Given the description of an element on the screen output the (x, y) to click on. 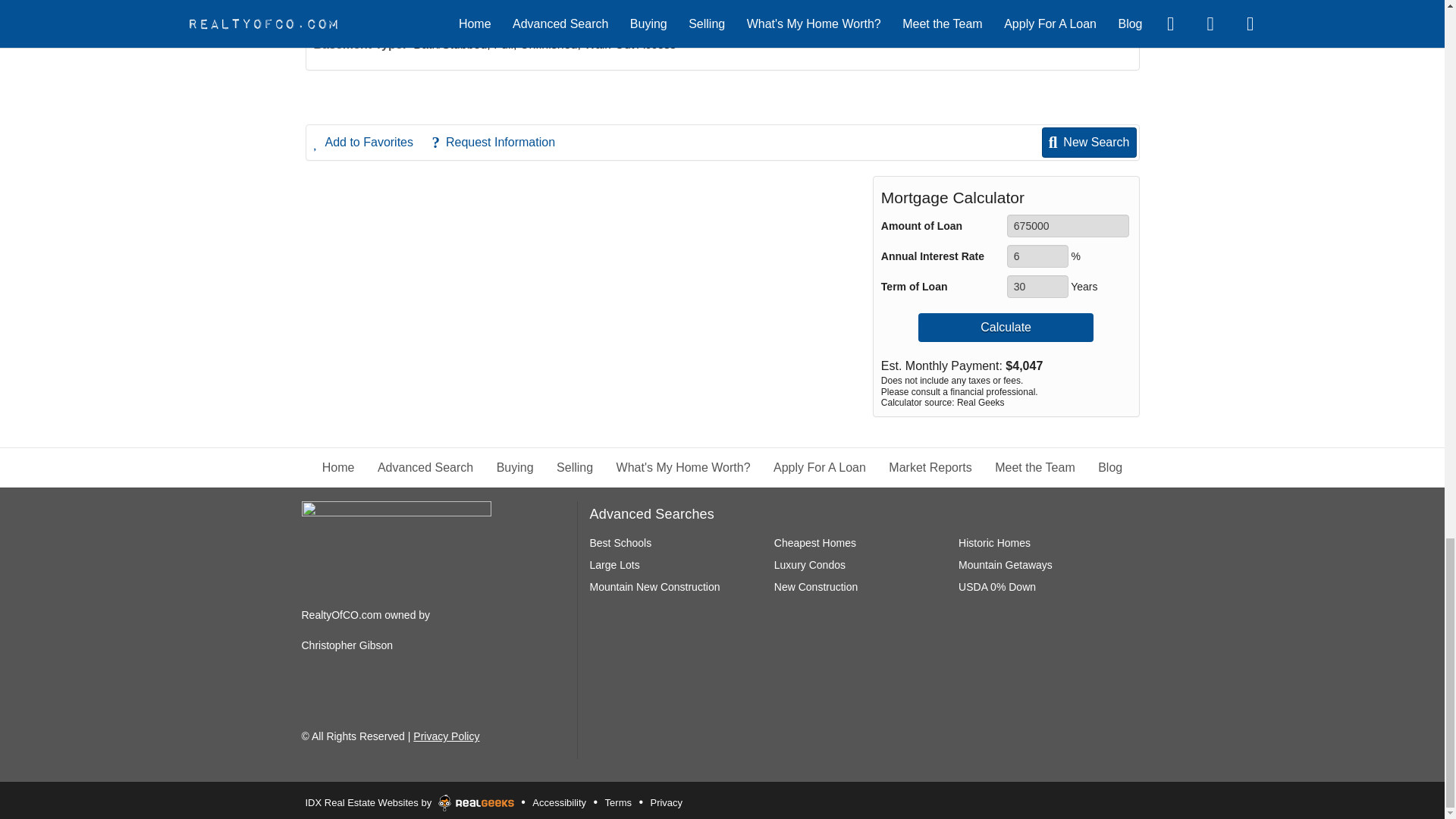
6 (1037, 255)
675000 (1068, 225)
30 (1037, 286)
